Given the description of an element on the screen output the (x, y) to click on. 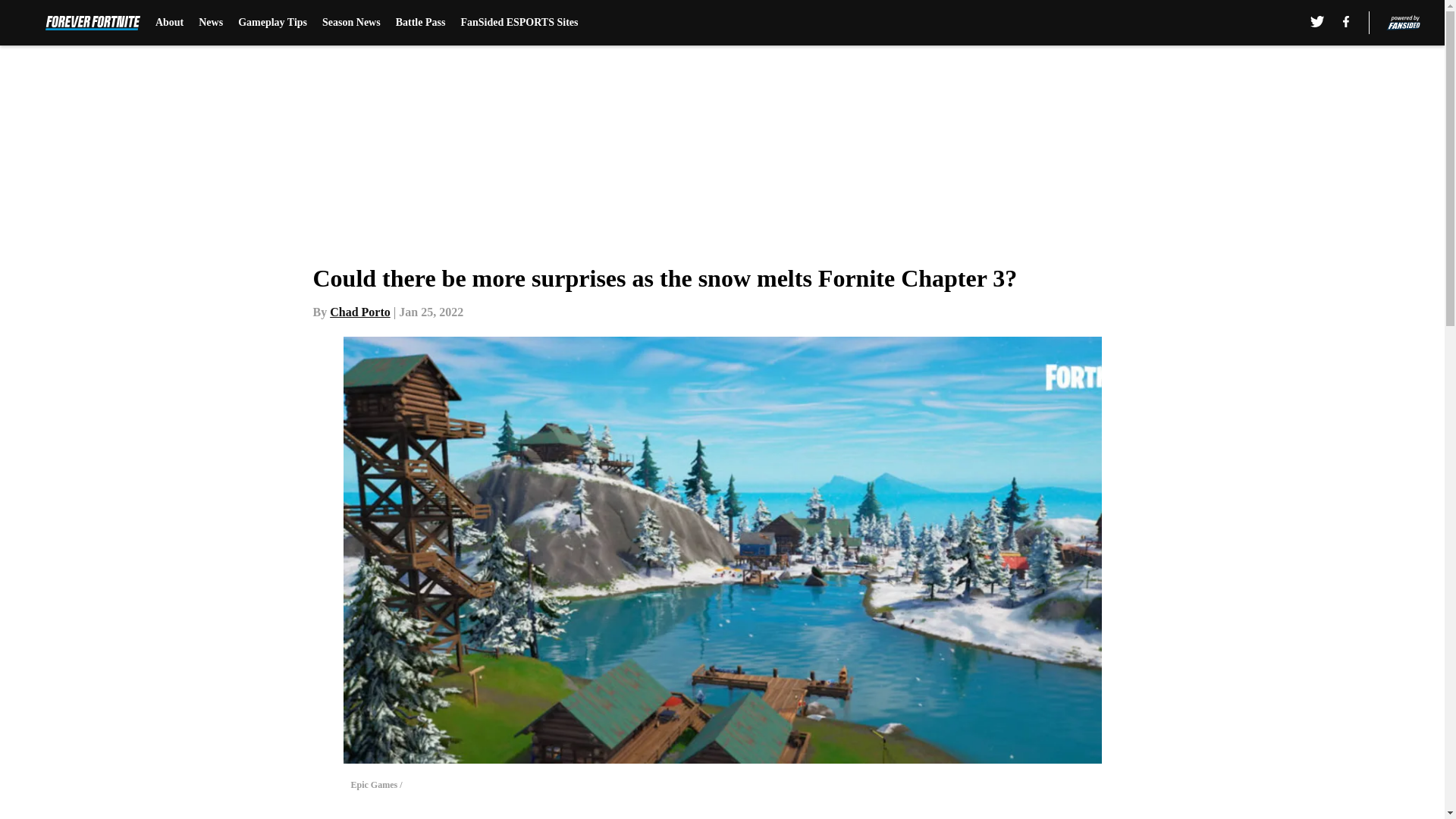
News (210, 22)
FanSided ESPORTS Sites (519, 22)
Chad Porto (360, 311)
About (169, 22)
Gameplay Tips (272, 22)
Battle Pass (420, 22)
Season News (350, 22)
